Given the description of an element on the screen output the (x, y) to click on. 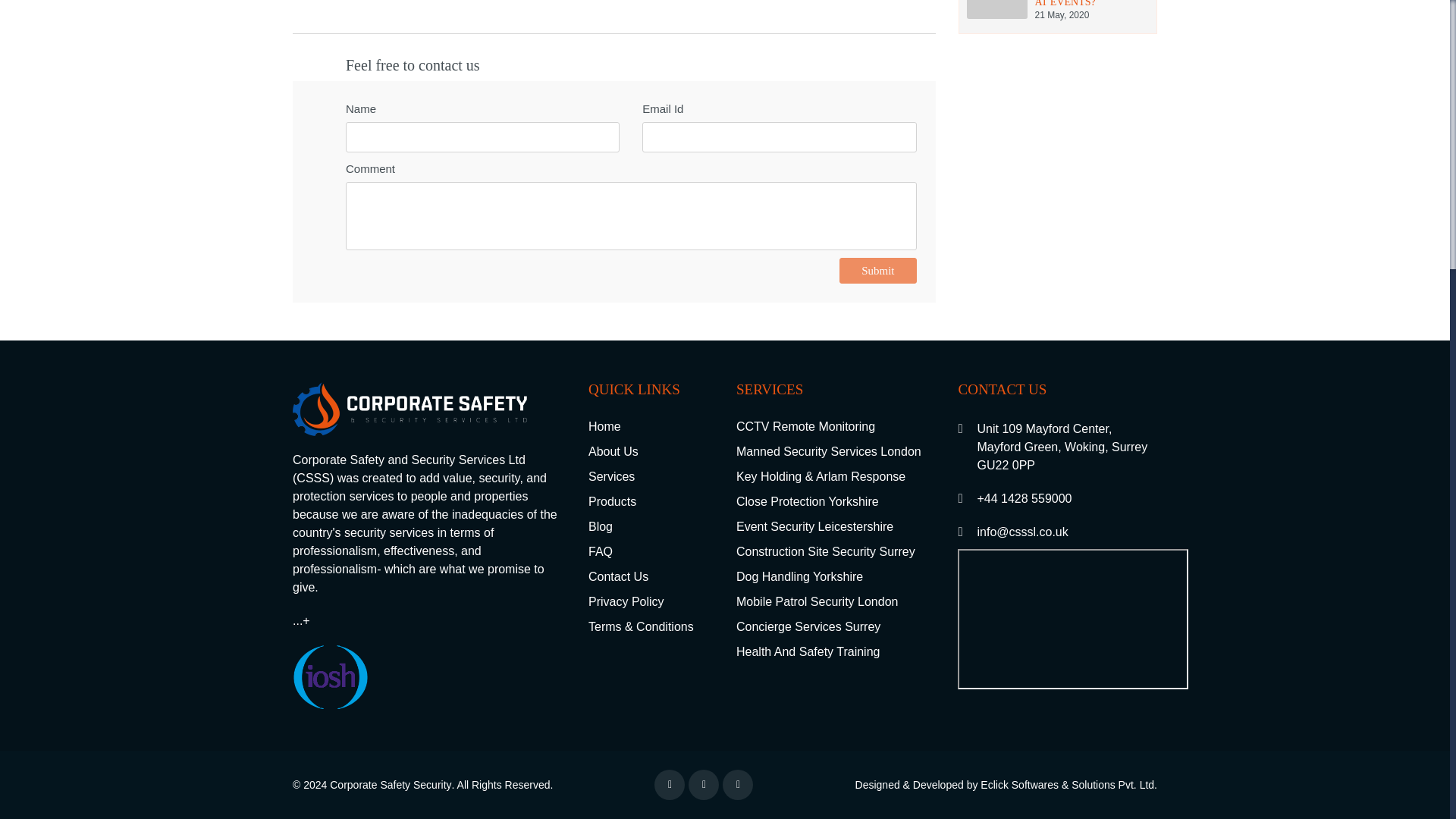
Health And Safety Training (836, 652)
Concierge Services Surrey (836, 626)
Google Map (1073, 618)
FAQ (650, 551)
Home (650, 427)
Dog Handling Yorkshire (836, 576)
Products (650, 501)
About Us (650, 451)
Manned Security Services London (1057, 11)
Services (836, 451)
Why Have Security At Events? (650, 477)
Submit (1057, 11)
Event Security Leicestershire (877, 270)
Blog (836, 526)
